Given the description of an element on the screen output the (x, y) to click on. 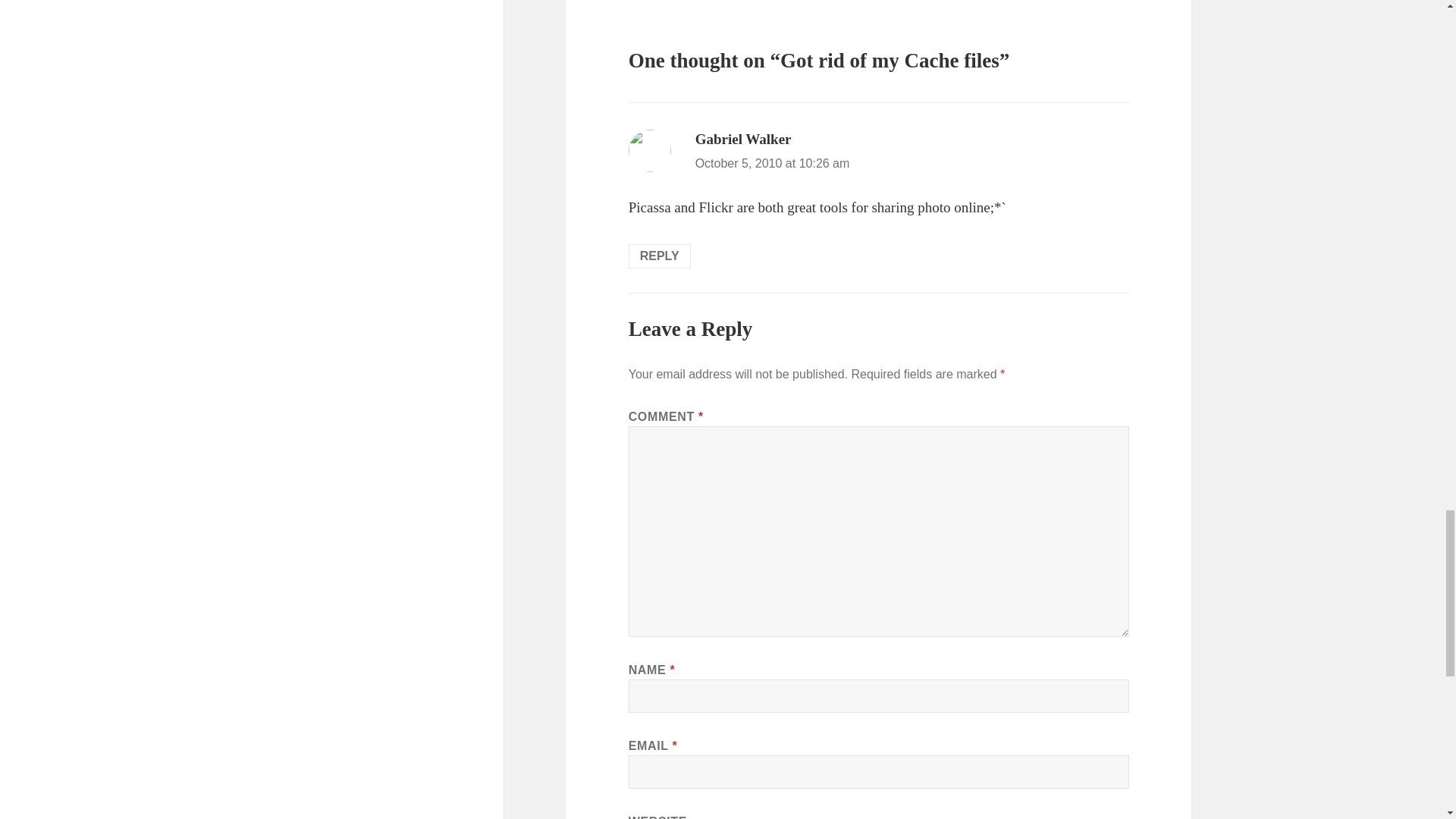
REPLY (659, 256)
October 5, 2010 at 10:26 am (772, 163)
Gabriel Walker (743, 139)
